Given the description of an element on the screen output the (x, y) to click on. 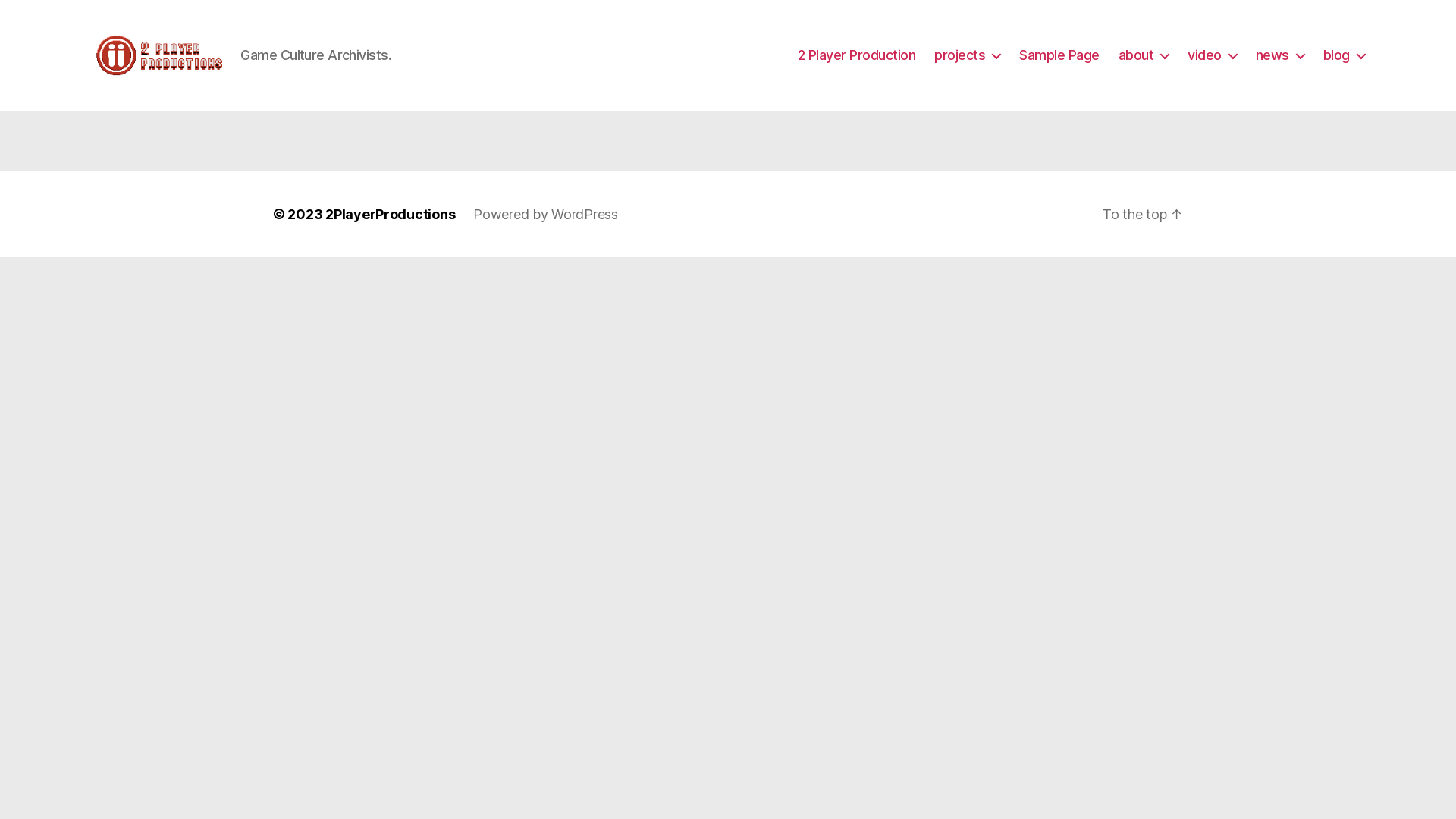
news Element type: text (1279, 55)
Sample Page Element type: text (1059, 55)
Powered by WordPress Element type: text (545, 214)
video Element type: text (1211, 55)
2PlayerProductions Element type: text (390, 214)
2 Player Production Element type: text (856, 55)
projects Element type: text (967, 55)
about Element type: text (1143, 55)
blog Element type: text (1344, 55)
